Given the description of an element on the screen output the (x, y) to click on. 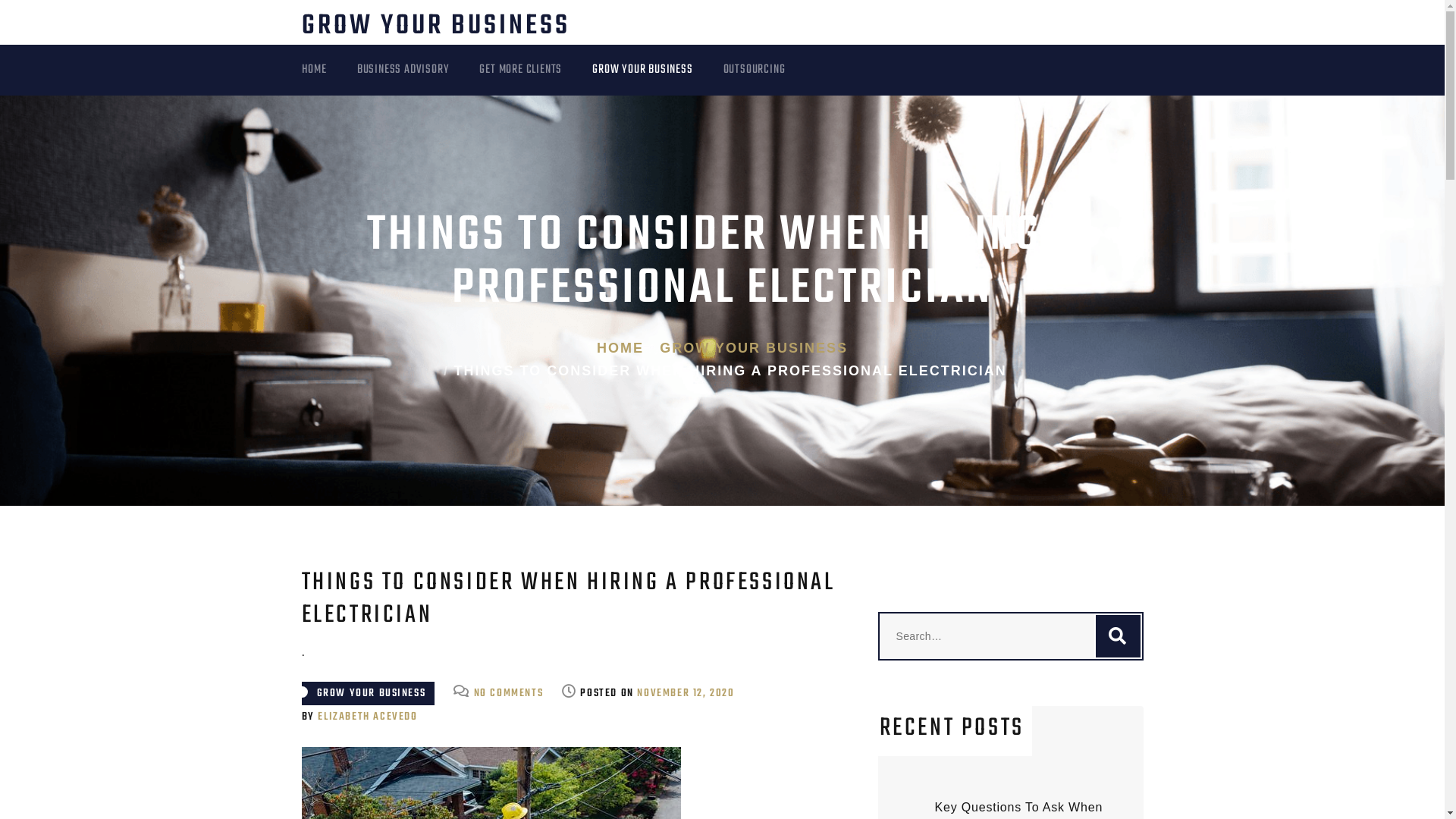
Search for: Element type: hover (1010, 635)
HOME Element type: text (619, 347)
BUSINESS ADVISORY Element type: text (418, 69)
GROW YOUR BUSINESS Element type: text (368, 693)
Search Element type: text (1118, 635)
NOVEMBER 12, 2020 Element type: text (685, 693)
GET MORE CLIENTS Element type: text (535, 69)
ELIZABETH ACEVEDO Element type: text (367, 716)
THINGS TO CONSIDER WHEN HIRING A PROFESSIONAL ELECTRICIAN Element type: text (730, 370)
HOME Element type: text (329, 69)
GROW YOUR BUSINESS Element type: text (753, 347)
GROW YOUR BUSINESS Element type: text (435, 25)
GROW YOUR BUSINESS Element type: text (657, 69)
OUTSOURCING Element type: text (769, 69)
